Given the description of an element on the screen output the (x, y) to click on. 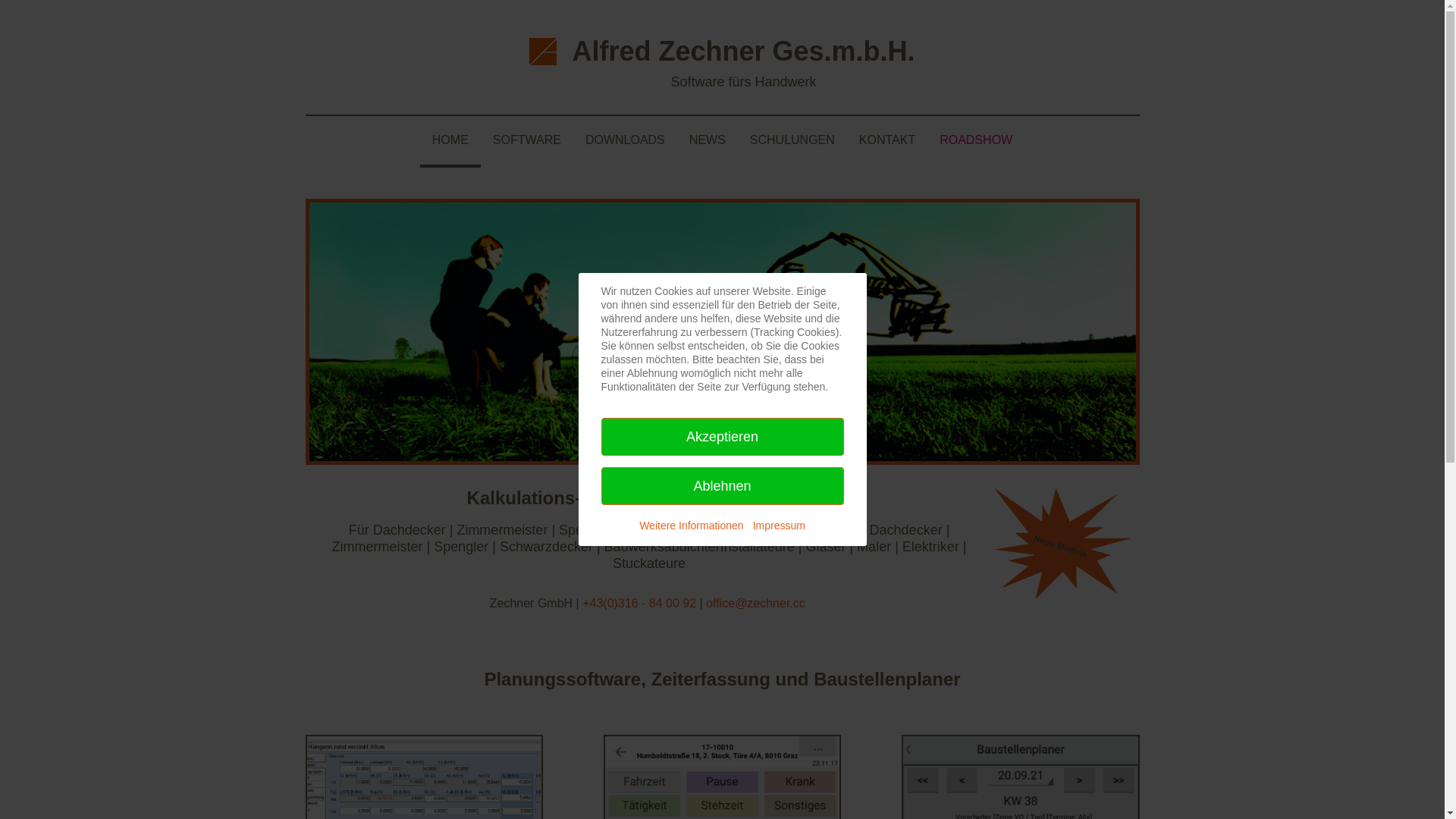
+43(0)316 - 84 00 92 Element type: text (639, 602)
Ablehnen Element type: text (721, 486)
SCHULUNGEN Element type: text (792, 140)
NEWS Element type: text (707, 140)
HOME Element type: text (450, 141)
Impressum Element type: text (779, 525)
ROADSHOW Element type: text (975, 140)
Alfred Zechner Ges.m.b.H. Element type: text (742, 50)
Akzeptieren Element type: text (721, 436)
office@zechner.cc Element type: text (755, 602)
DOWNLOADS Element type: text (625, 140)
Weitere Informationen Element type: text (691, 525)
KONTAKT Element type: text (887, 140)
SOFTWARE Element type: text (526, 140)
